Given the description of an element on the screen output the (x, y) to click on. 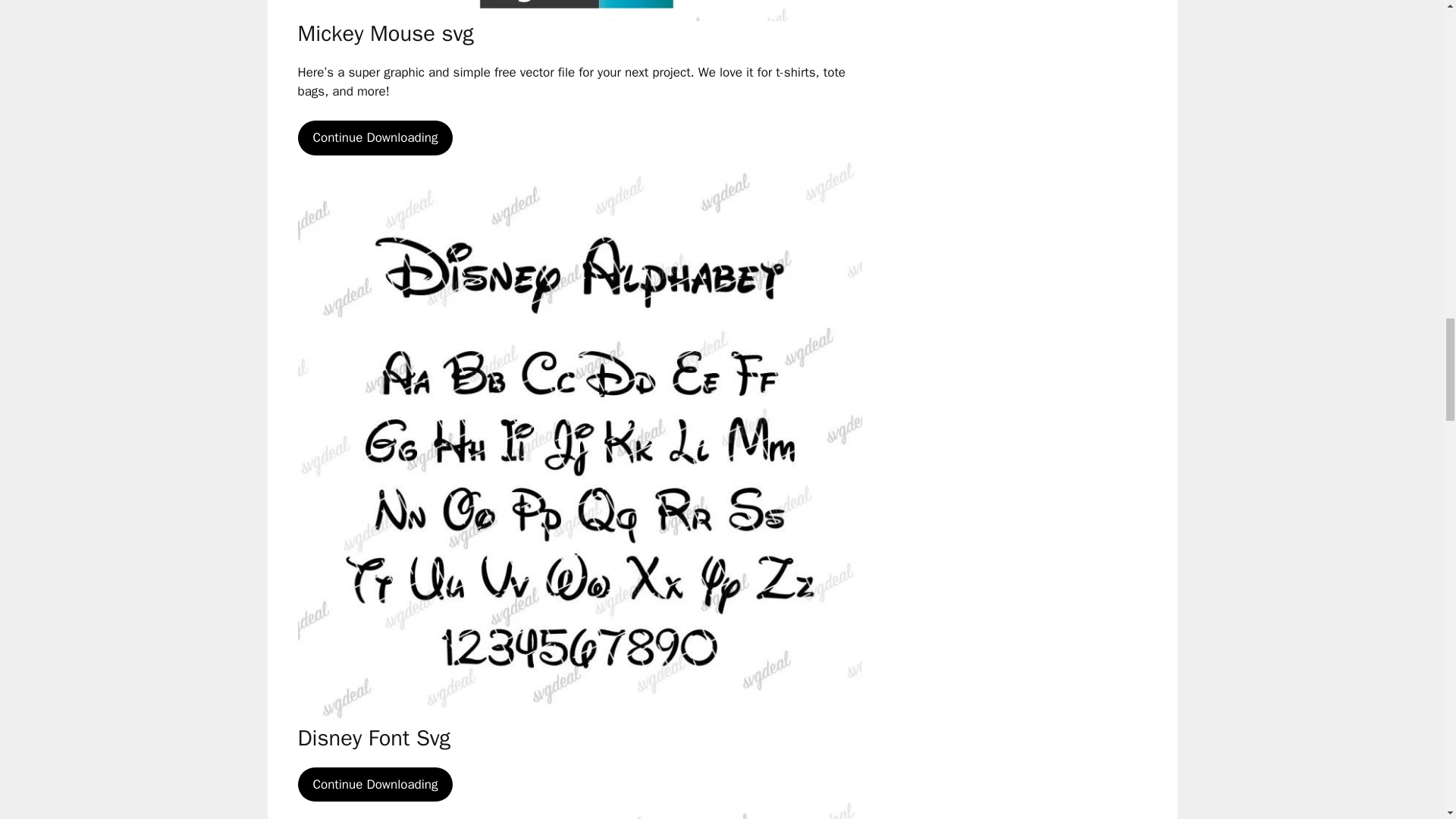
Continue Downloading (374, 137)
Continue Downloading (374, 784)
